Given the description of an element on the screen output the (x, y) to click on. 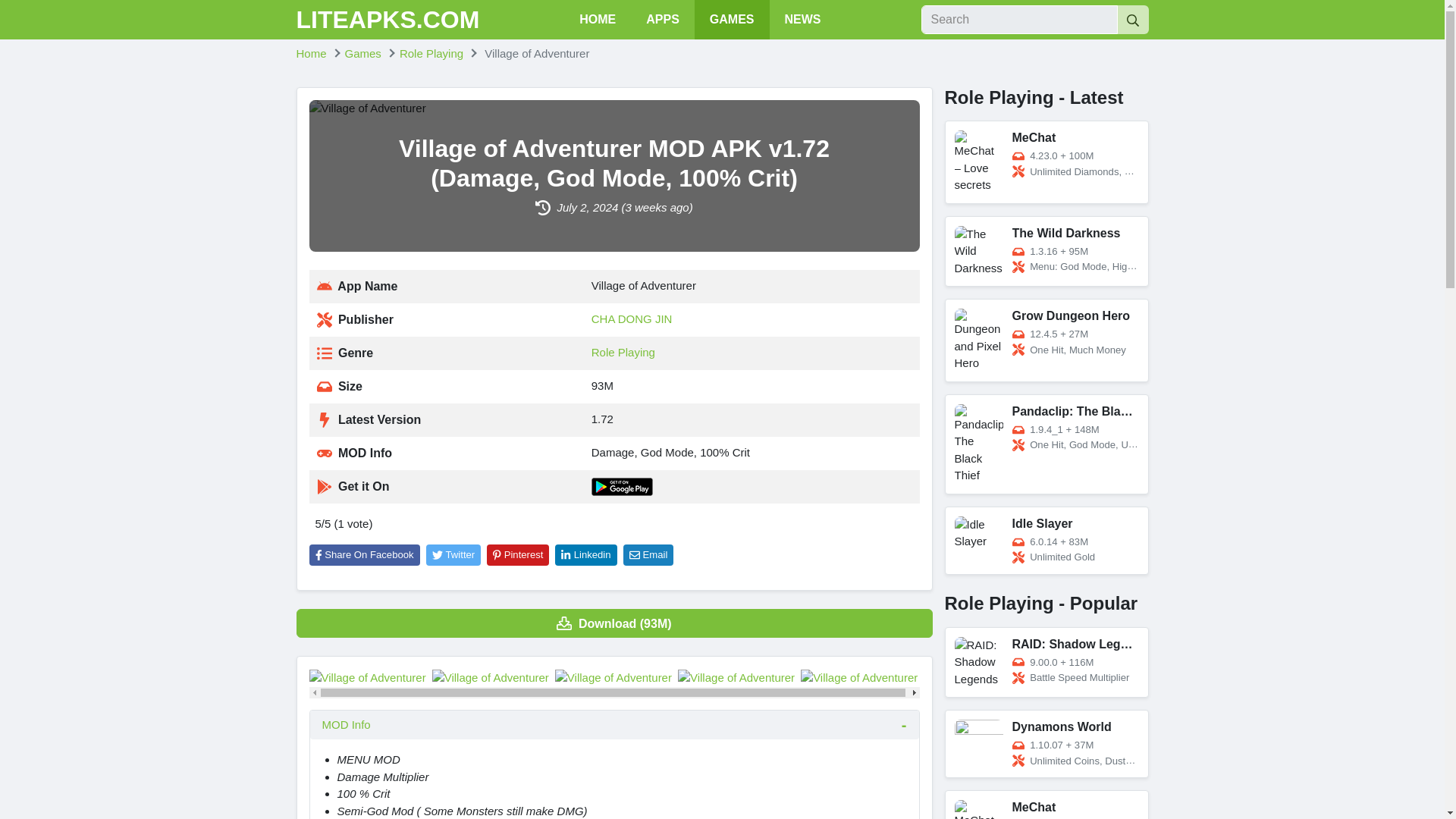
Share On Facebook (364, 554)
Home (310, 52)
HOME (597, 19)
Email (648, 554)
APPS (662, 19)
Role Playing (430, 52)
LITEAPKS.COM (387, 19)
CHA DONG JIN (631, 318)
MeChat (1046, 161)
Pandaclip: The Black Thief (1046, 443)
Grow Dungeon Hero (1046, 340)
GAMES (732, 19)
NEWS (802, 19)
Twitter (453, 554)
